Given the description of an element on the screen output the (x, y) to click on. 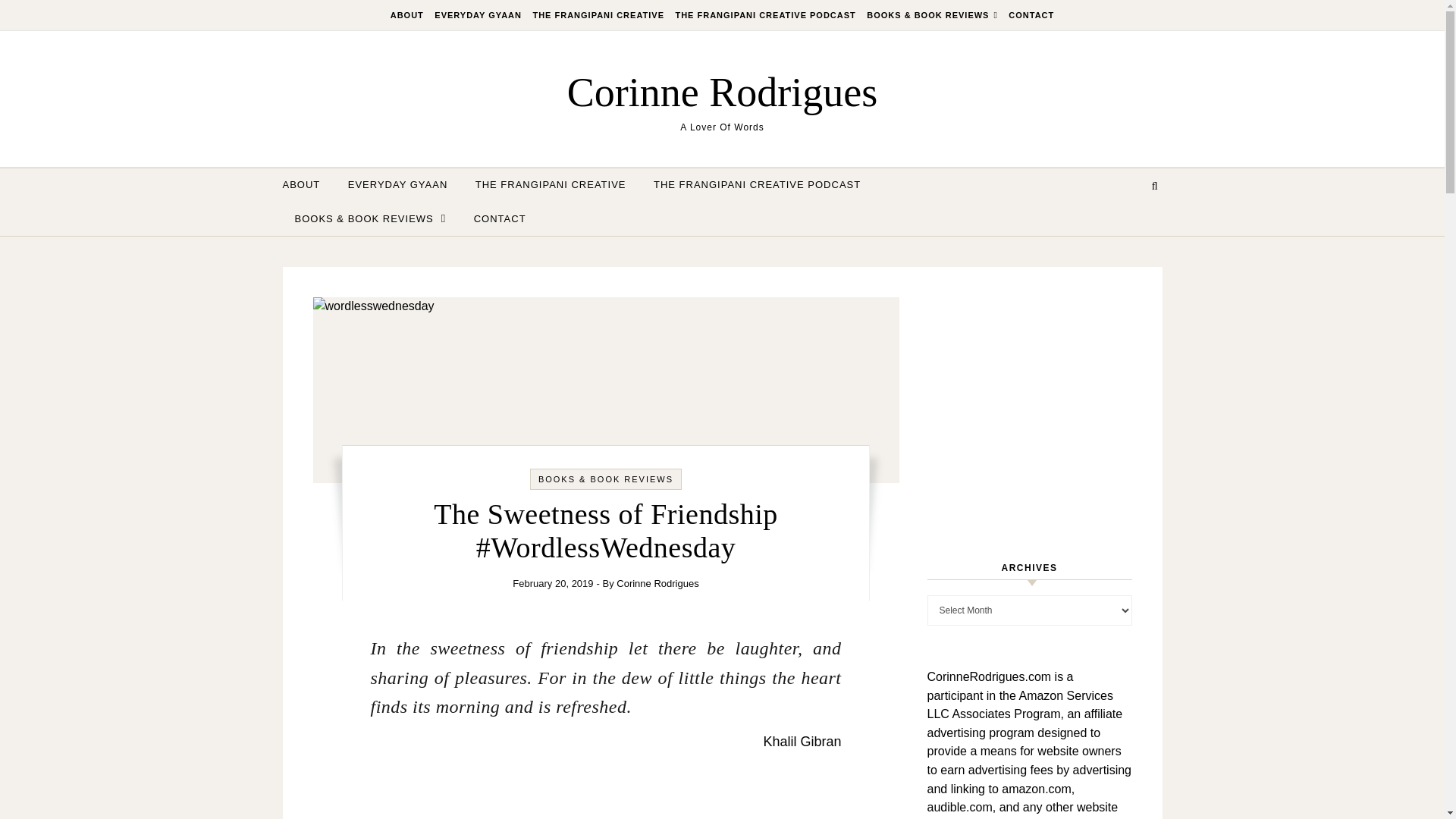
THE FRANGIPANI CREATIVE PODCAST (757, 184)
Corinne Rodrigues (721, 91)
THE FRANGIPANI CREATIVE PODCAST (765, 15)
CONTACT (493, 218)
Posts by Corinne Rodrigues (656, 583)
ABOUT (306, 184)
EVERYDAY GYAAN (398, 184)
Corinne Rodrigues (656, 583)
THE FRANGIPANI CREATIVE (598, 15)
CONTACT (1029, 15)
THE FRANGIPANI CREATIVE (551, 184)
EVERYDAY GYAAN (477, 15)
ABOUT (409, 15)
